Given the description of an element on the screen output the (x, y) to click on. 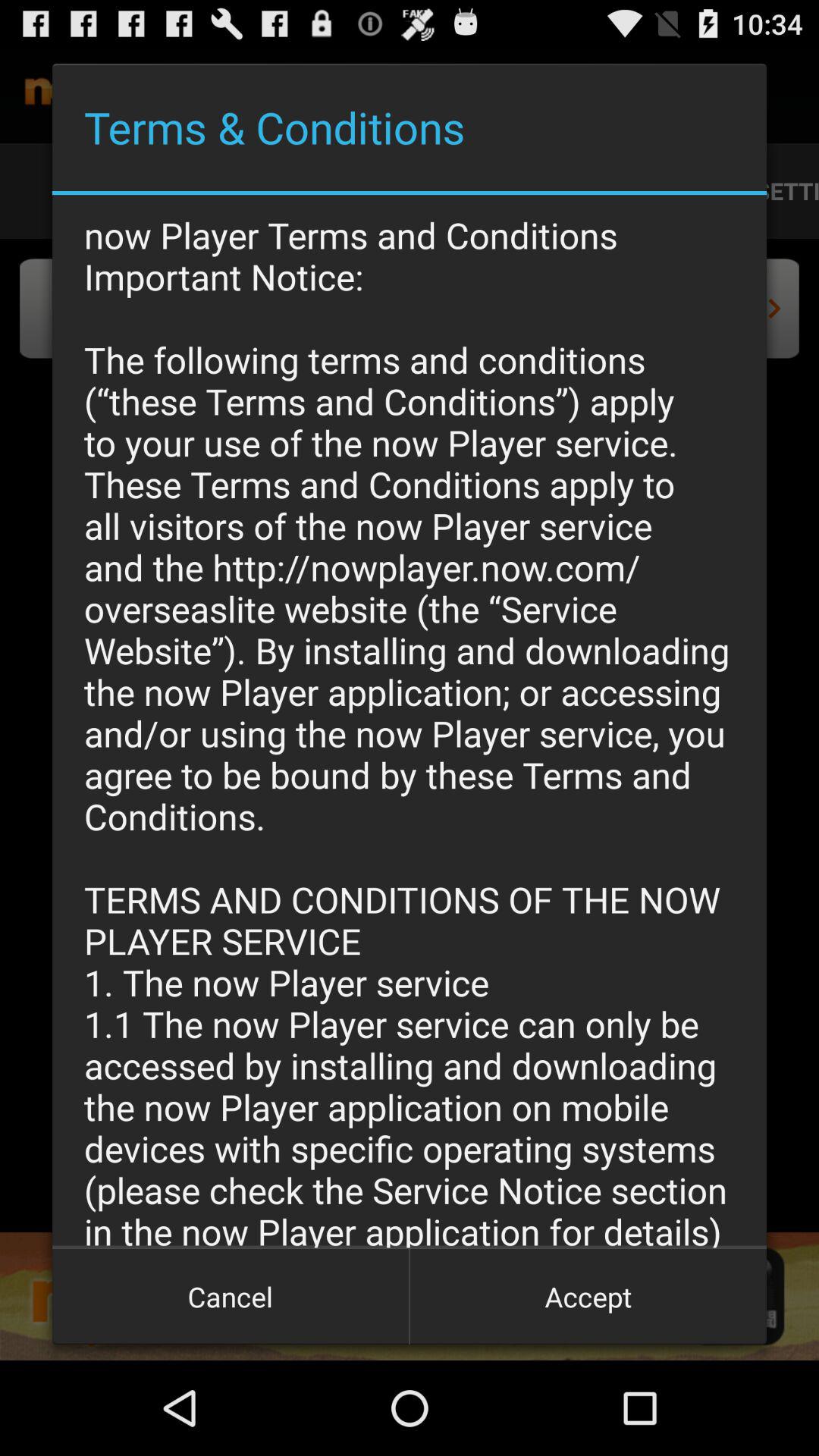
launch the accept at the bottom right corner (588, 1296)
